Given the description of an element on the screen output the (x, y) to click on. 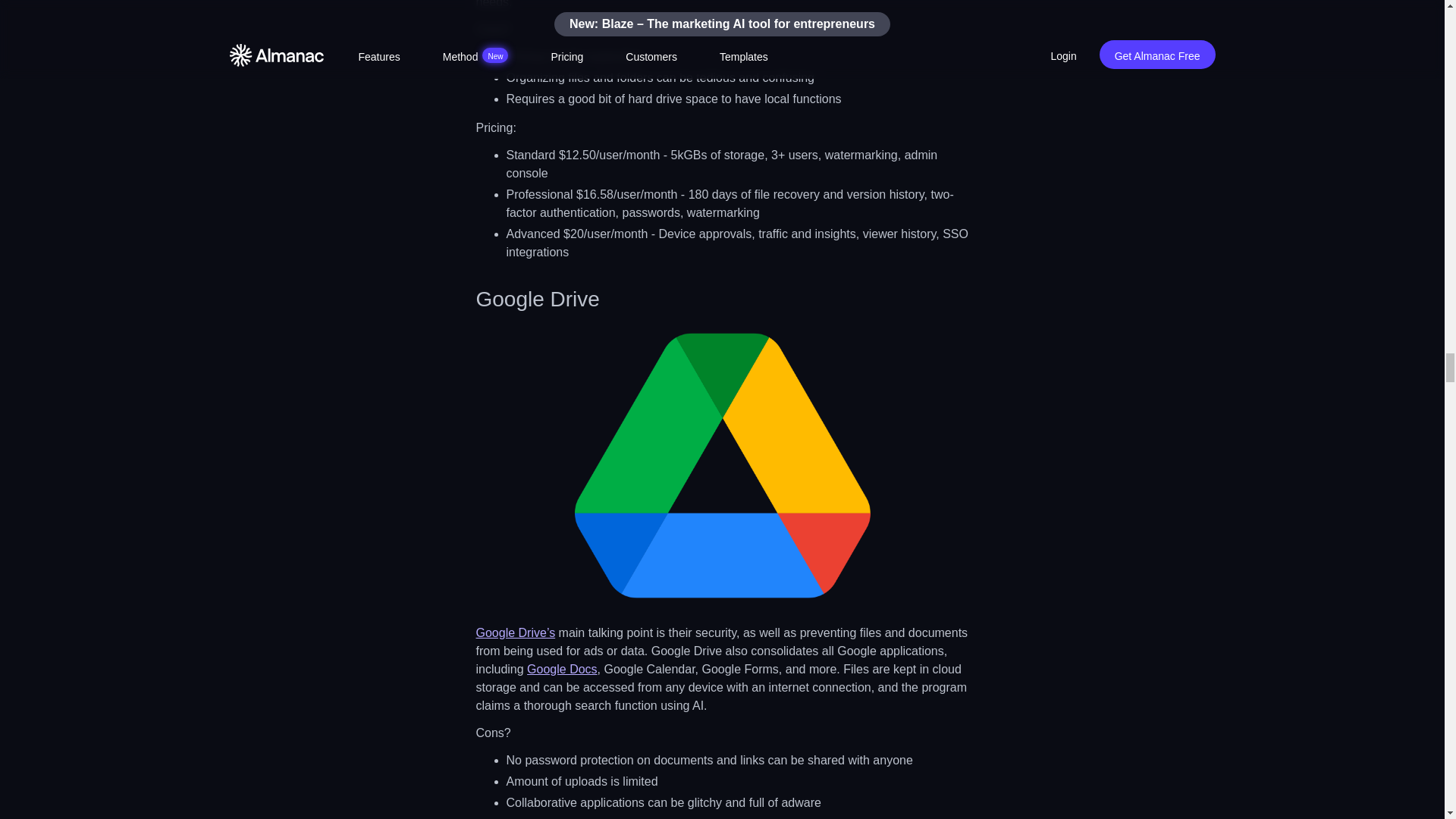
Google Docs (561, 668)
